Given the description of an element on the screen output the (x, y) to click on. 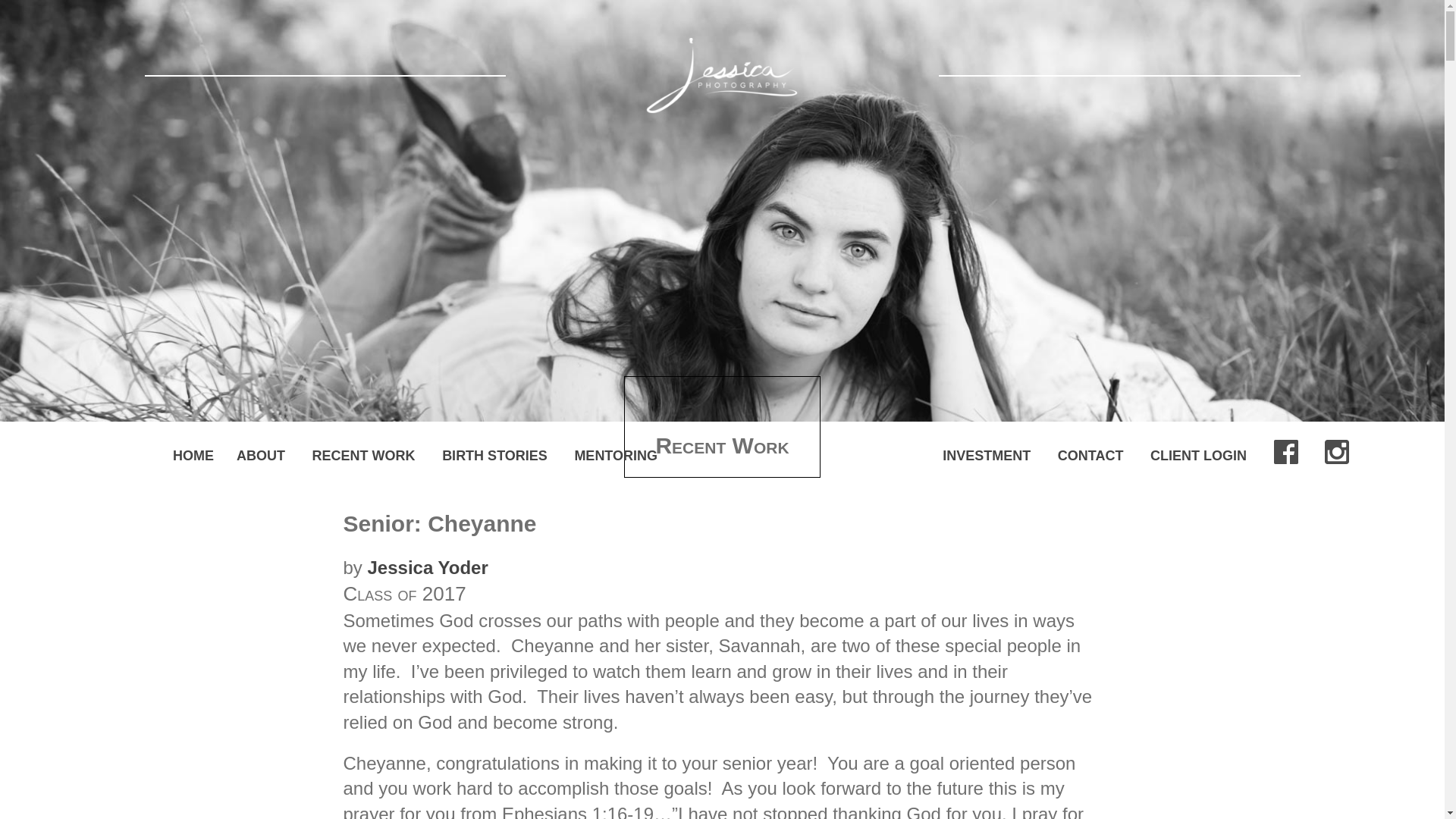
View all posts by Jessica Yoder (427, 567)
Follow us on Instagram (1336, 451)
CLIENT LOGIN (1198, 454)
MENTORING (615, 454)
ABOUT (260, 454)
CONTACT (1091, 454)
BIRTH STORIES (494, 454)
INVESTMENT (986, 454)
RECENT WORK (363, 454)
HOME (193, 454)
Find us on Facebook (1286, 451)
Jessica Yoder (427, 567)
